Given the description of an element on the screen output the (x, y) to click on. 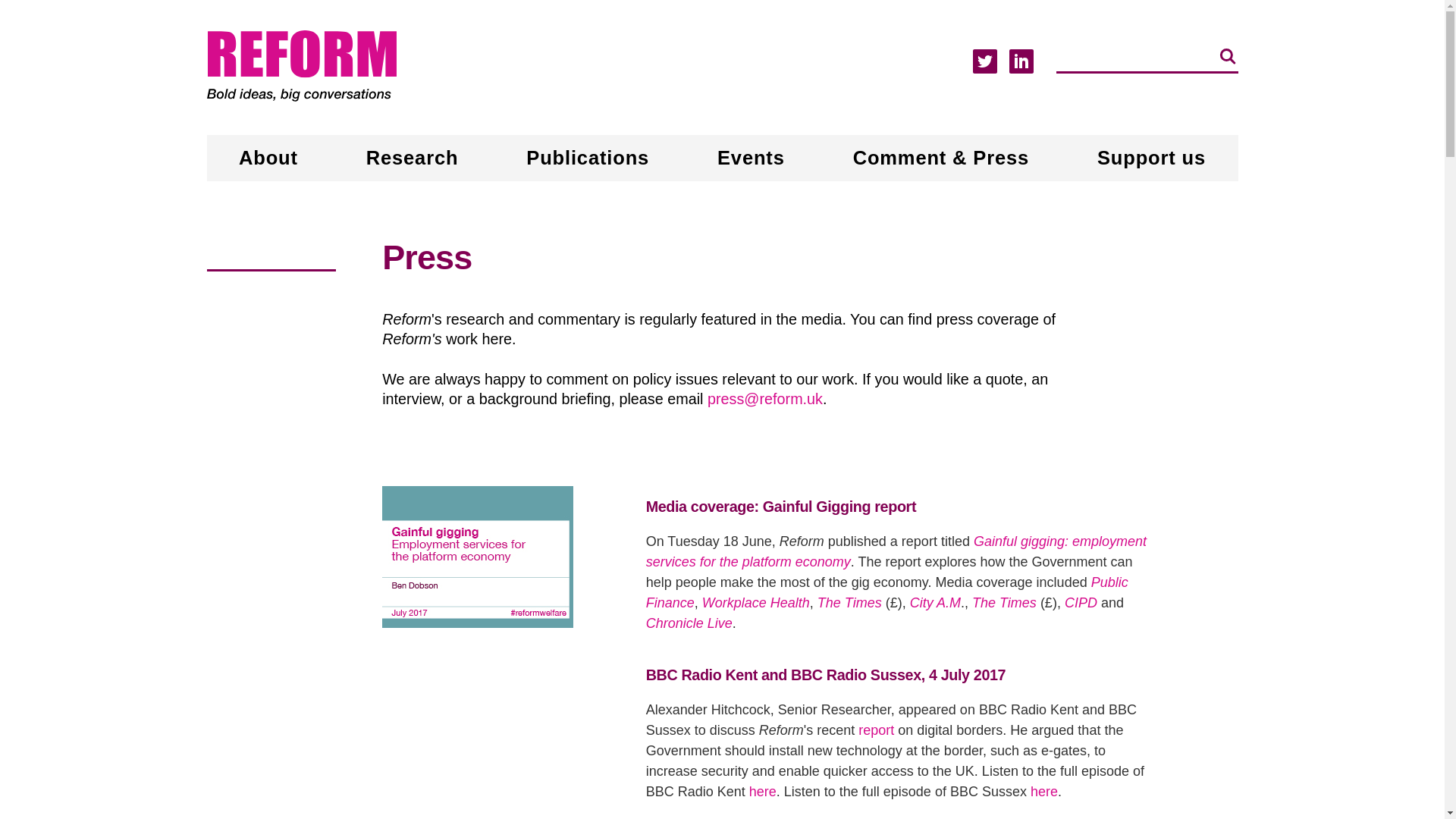
About (268, 157)
Support us (1151, 157)
Research (412, 157)
Publications (587, 157)
Events (750, 157)
